Given the description of an element on the screen output the (x, y) to click on. 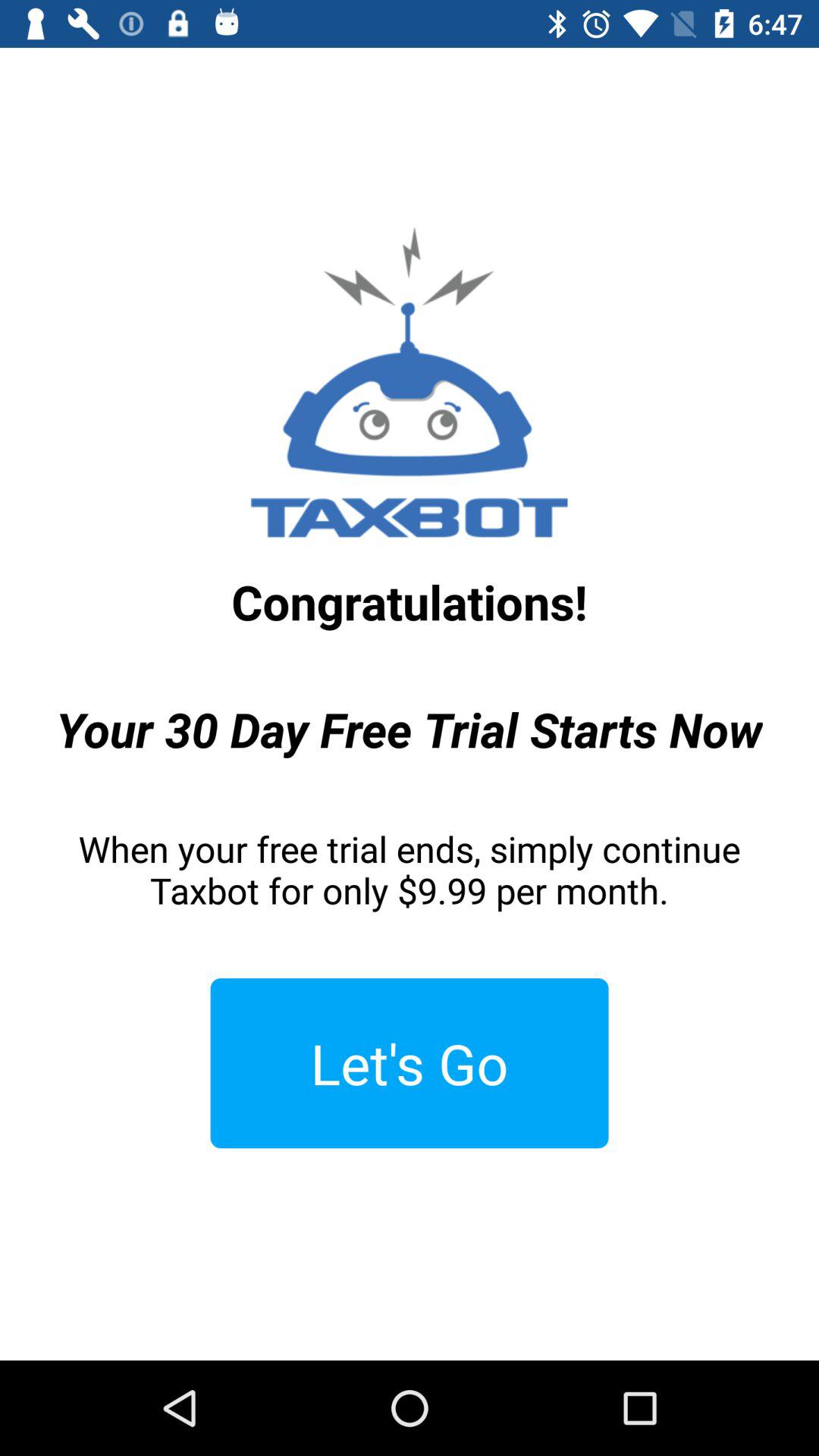
scroll until the let's go button (409, 1063)
